Given the description of an element on the screen output the (x, y) to click on. 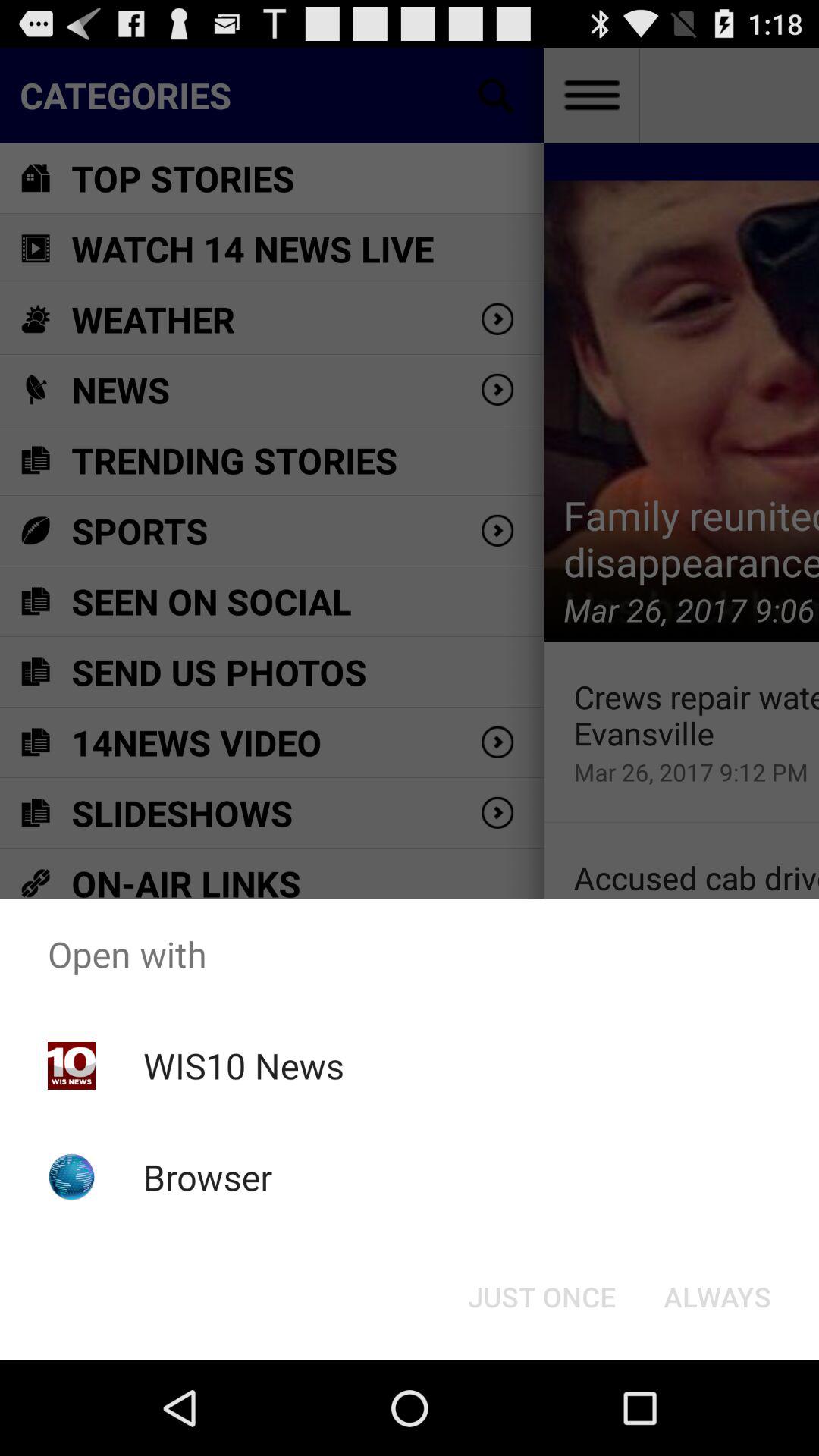
click the just once at the bottom (541, 1296)
